Given the description of an element on the screen output the (x, y) to click on. 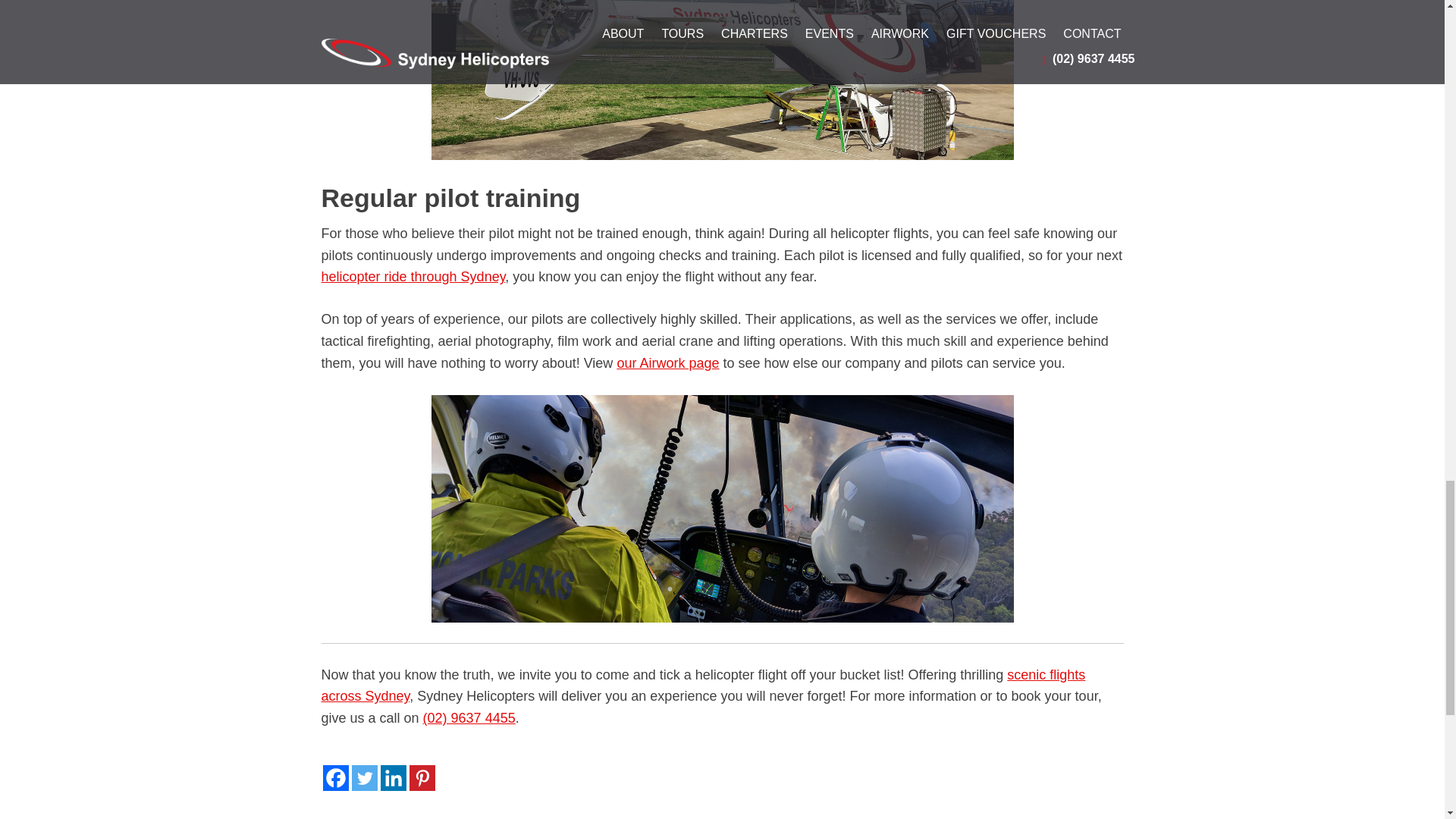
helicopter ride through Sydney (413, 276)
scenic flights across Sydney (703, 685)
Pinterest (422, 777)
Facebook (336, 777)
Twitter (364, 777)
our Airwork page (667, 363)
Linkedin (393, 777)
